Given the description of an element on the screen output the (x, y) to click on. 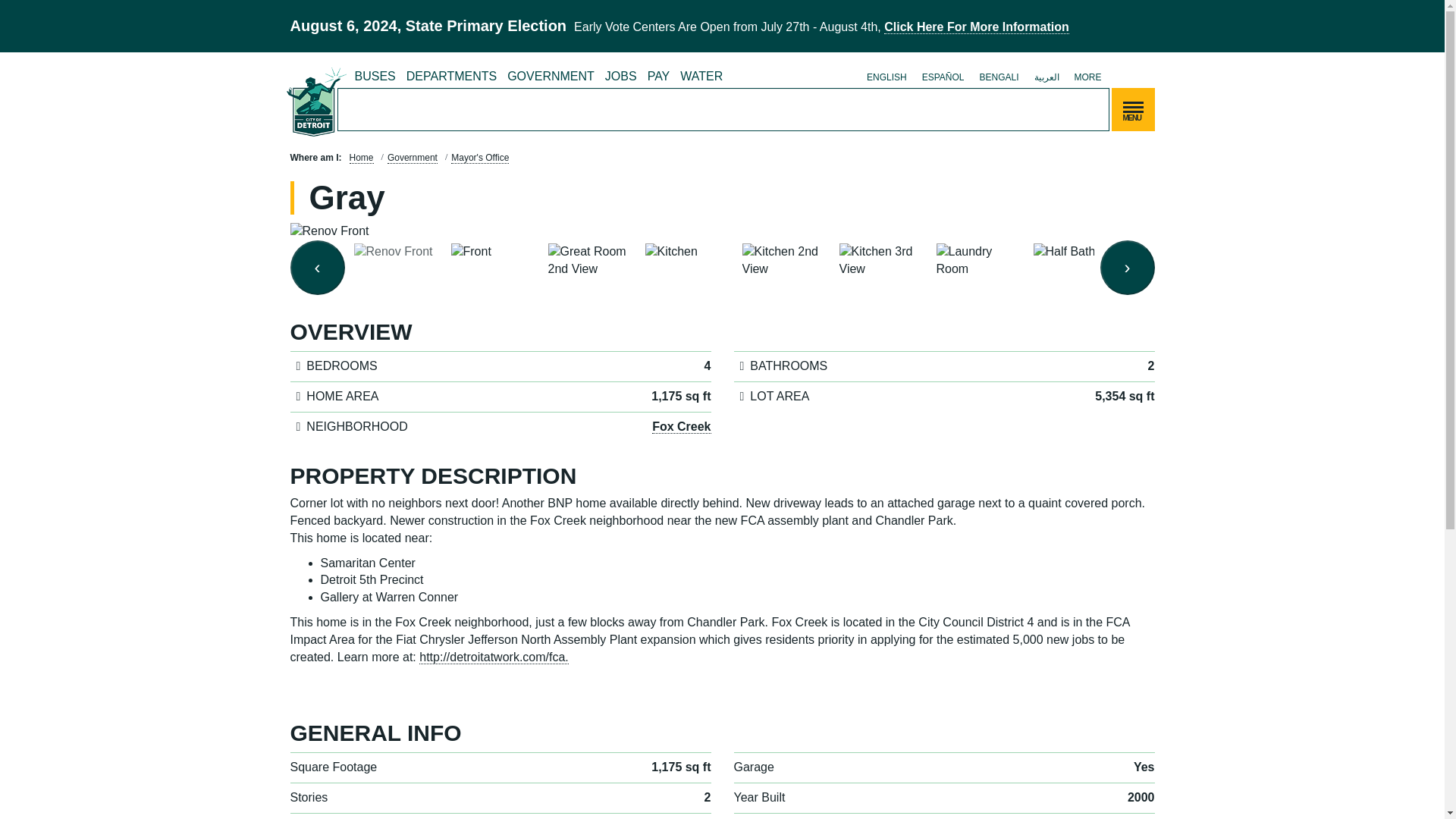
BUSES (374, 76)
Click Here For More Information (975, 27)
Find how to pay fines, bills or taxes. (658, 76)
ENGLISH (886, 76)
DEPARTMENTS (451, 76)
WATER (701, 76)
BENGALI (998, 76)
GOVERNMENT (550, 76)
JOBS (620, 76)
MORE (1086, 76)
Home (316, 100)
PAY (658, 76)
